Given the description of an element on the screen output the (x, y) to click on. 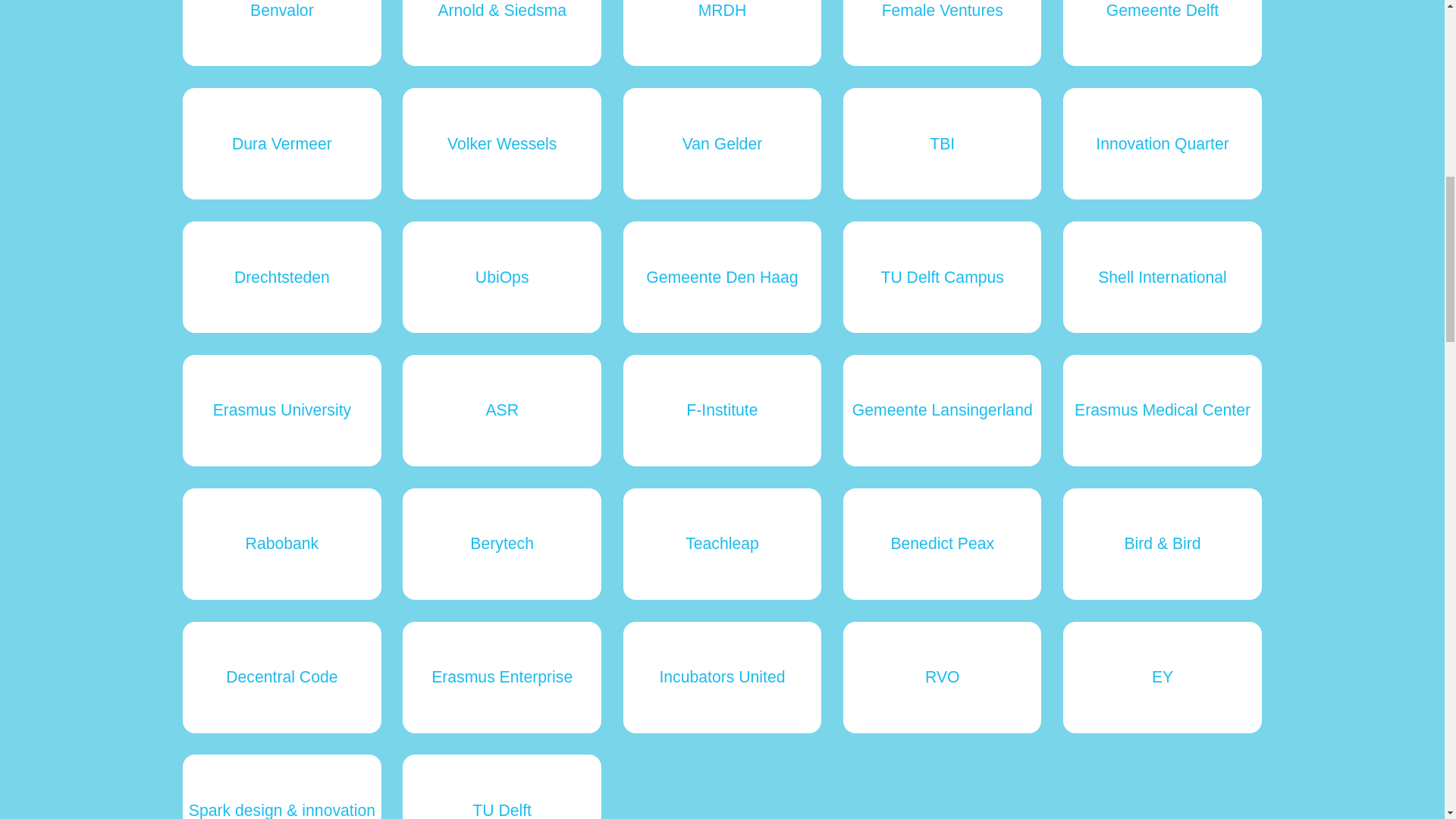
Gemeente Den Haag (722, 276)
Dura Vermeer (282, 143)
TU Delft (502, 786)
Van Gelder (722, 143)
Gemeente Lansingerland (942, 410)
Rabobank (282, 543)
Drechtsteden (282, 276)
Teachleap (722, 543)
Volker Wessels (502, 143)
Erasmus Enterprise (502, 677)
ASR (502, 410)
TU Delft Campus (942, 276)
Erasmus Medical Center (1162, 410)
Benedict Peax (942, 543)
Innovation Quarter (1162, 143)
